Given the description of an element on the screen output the (x, y) to click on. 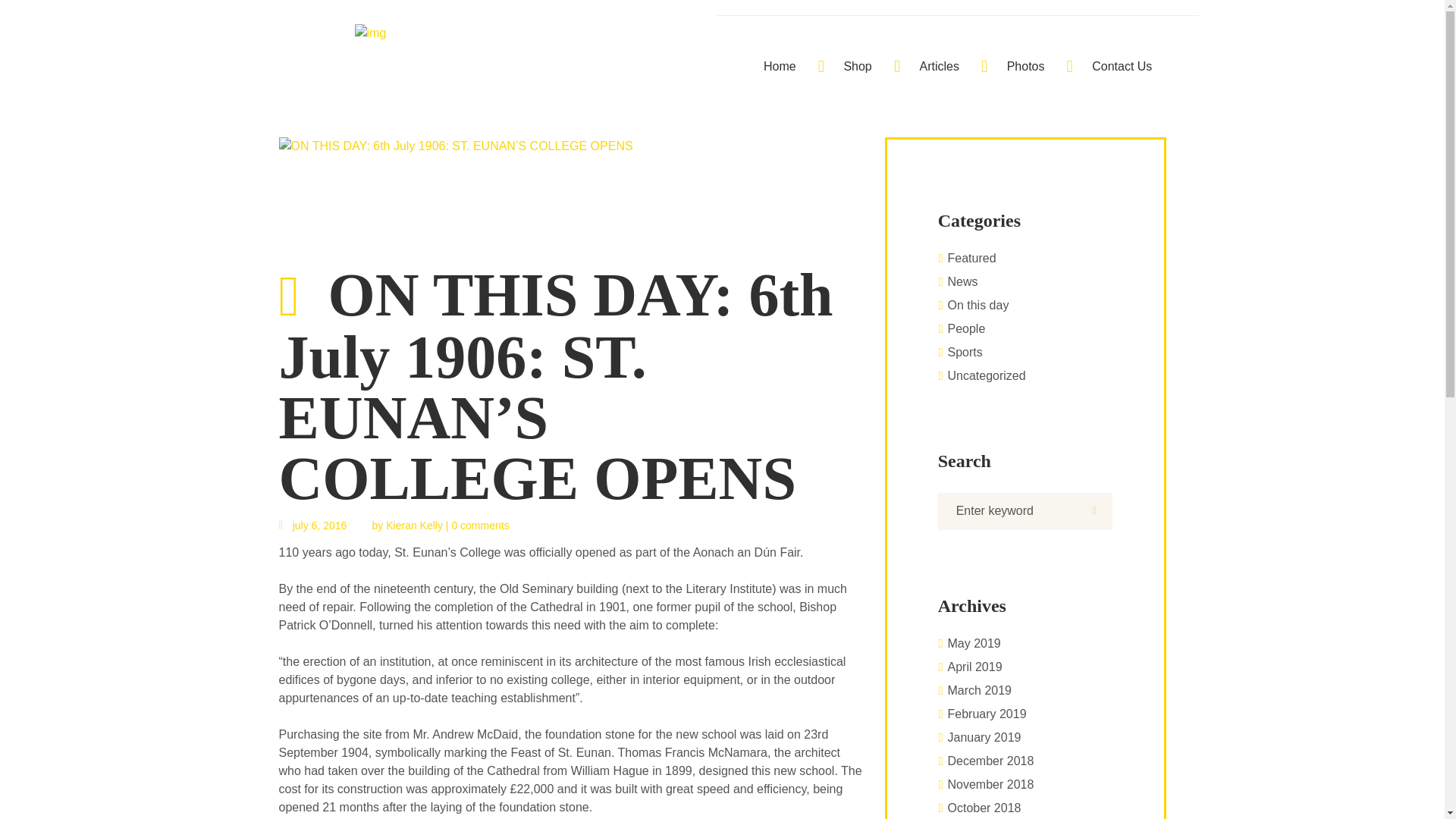
People (966, 328)
0 comments (479, 526)
April 2019 (974, 666)
January 2019 (983, 737)
November 2018 (990, 784)
March 2019 (979, 689)
Shop (857, 67)
Contact Us (1122, 67)
Search for: (1025, 511)
On this day (978, 305)
Photos (1025, 67)
Featured (971, 257)
july 6, 2016 (313, 525)
December 2018 (990, 760)
Articles (938, 67)
